Given the description of an element on the screen output the (x, y) to click on. 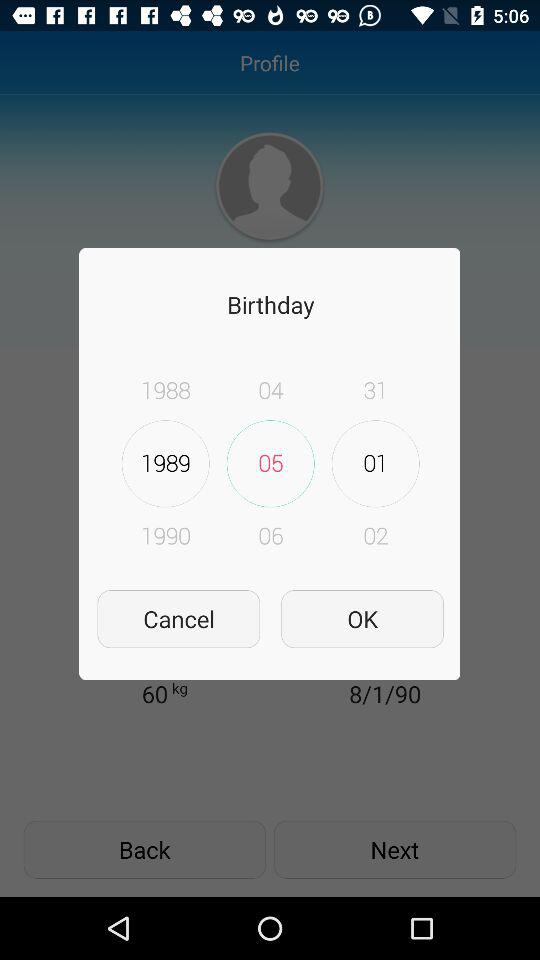
scroll to the cancel item (178, 618)
